Given the description of an element on the screen output the (x, y) to click on. 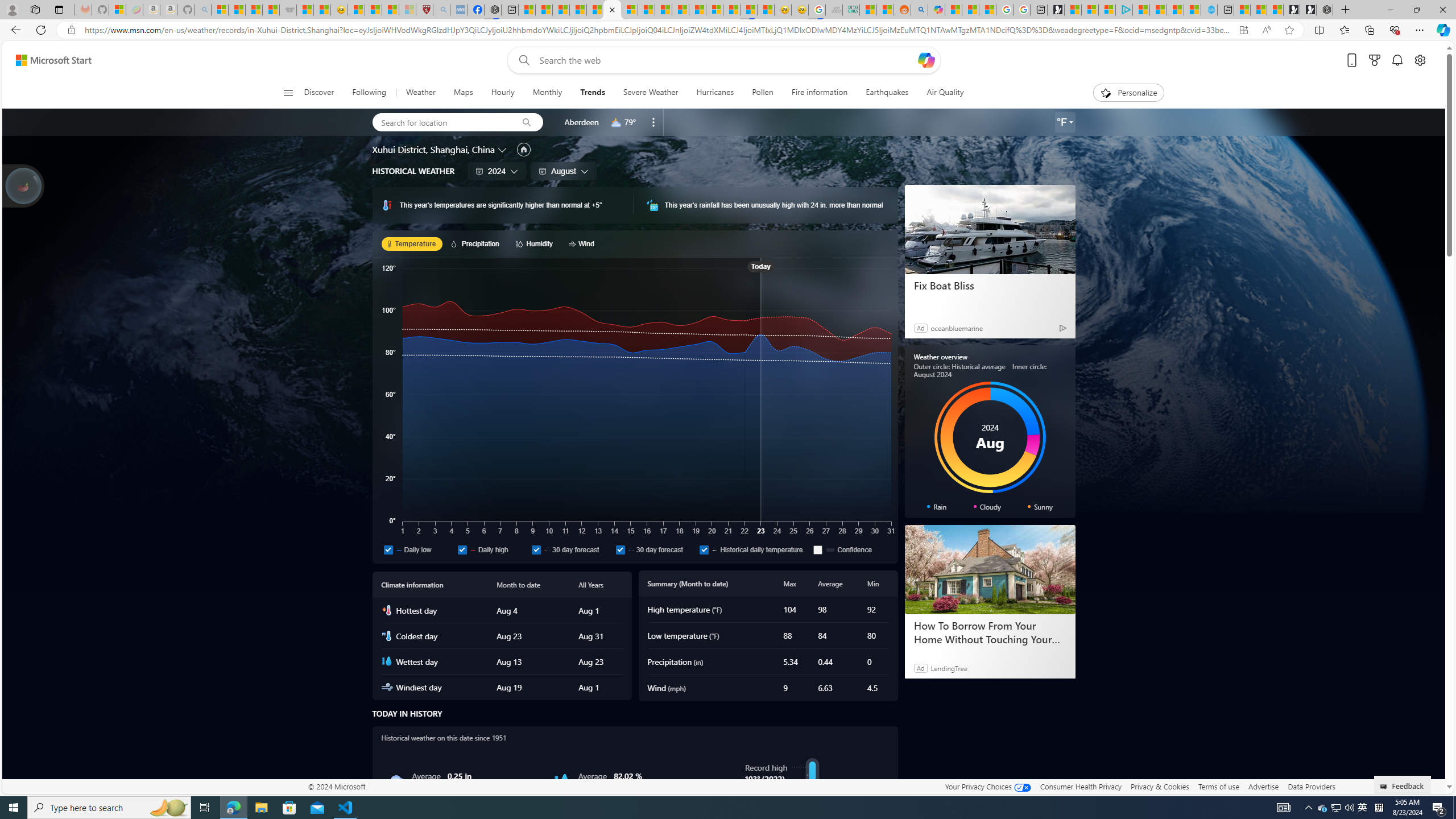
Aberdeen (581, 121)
12 Popular Science Lies that Must be Corrected - Sleeping (407, 9)
LendingTree (948, 668)
